Given the description of an element on the screen output the (x, y) to click on. 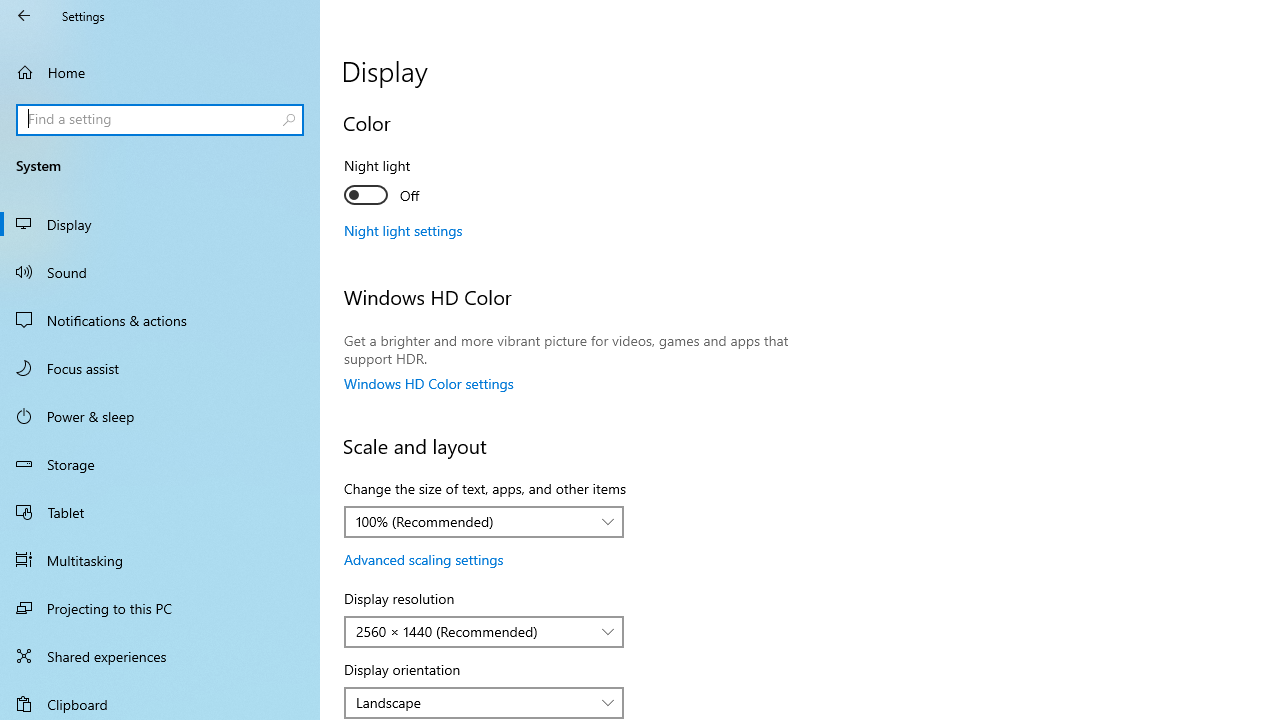
Storage (160, 463)
Change the size of text, apps, and other items (484, 521)
Shared experiences (160, 655)
Display resolution (484, 632)
100% (Recommended) (473, 521)
Projecting to this PC (160, 607)
